Given the description of an element on the screen output the (x, y) to click on. 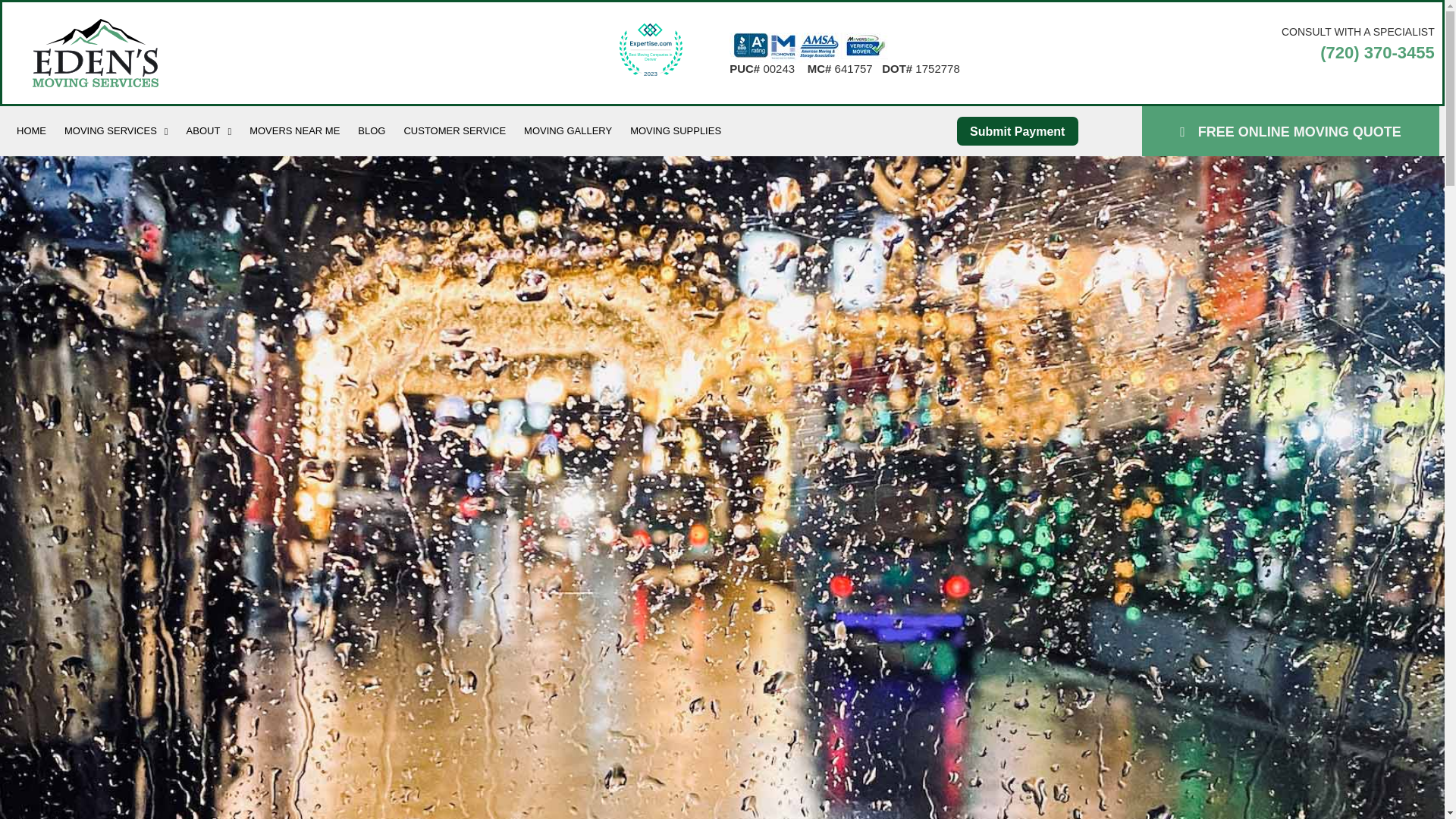
HOME (31, 130)
MOVING SERVICES (116, 130)
